Given the description of an element on the screen output the (x, y) to click on. 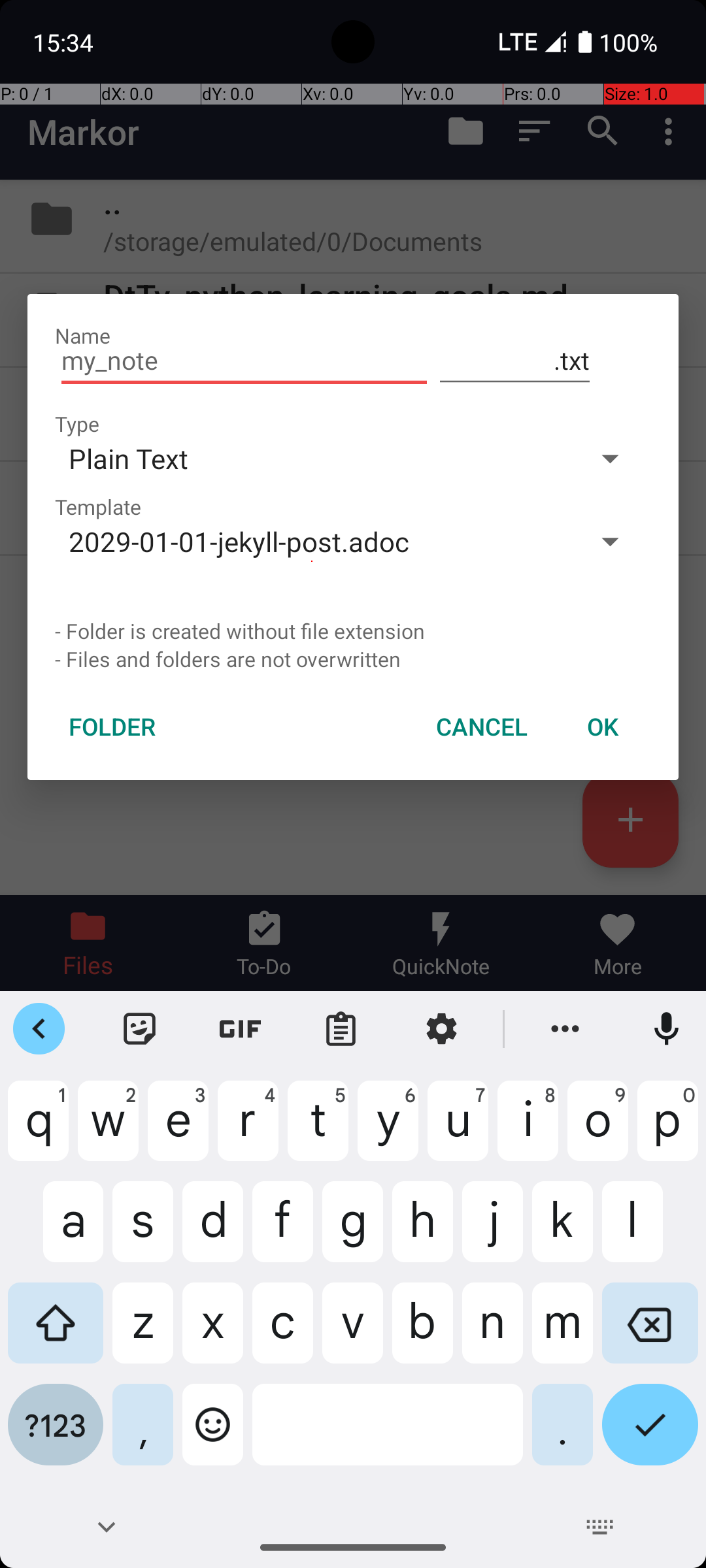
.txt Element type: android.widget.EditText (514, 360)
2029-01-01-jekyll-post.adoc Element type: android.widget.TextView (311, 540)
